Given the description of an element on the screen output the (x, y) to click on. 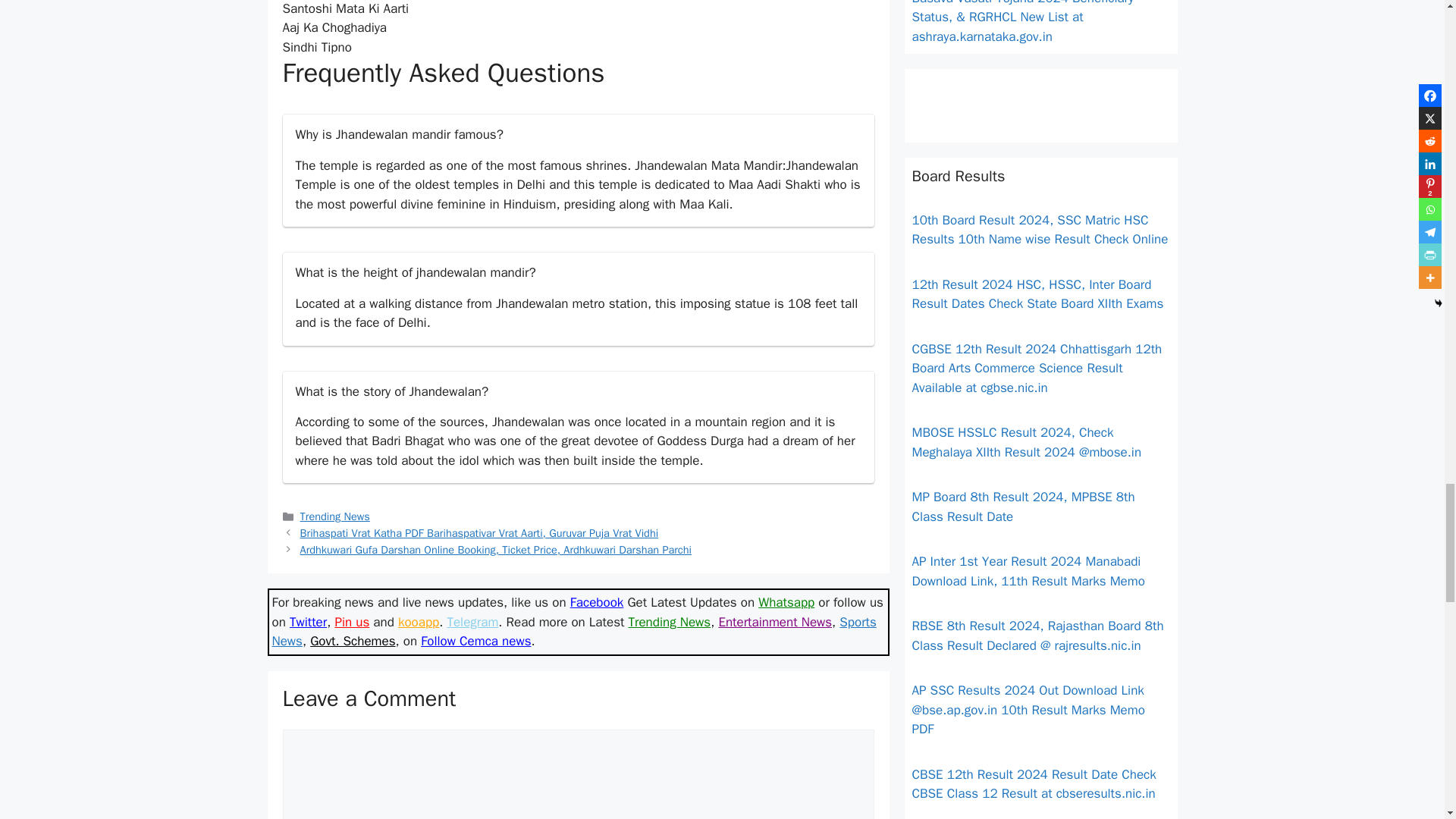
Santoshi Mata Ki Aarti (345, 8)
Sindhi Tipno (316, 47)
Aaj Ka Choghadiya (334, 27)
